Given the description of an element on the screen output the (x, y) to click on. 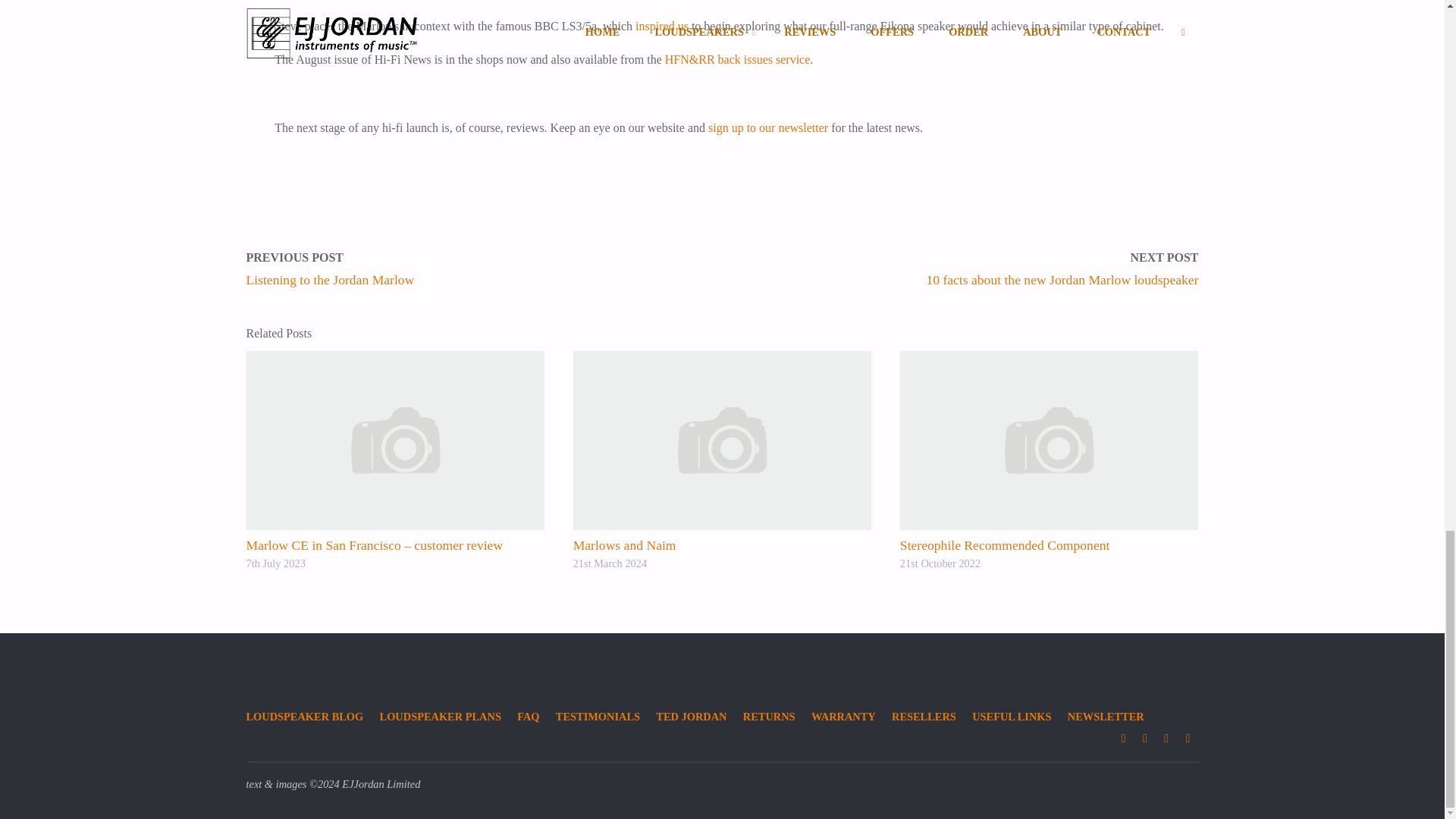
Marlows and Naim (722, 440)
pinterest (1166, 739)
facebook (1145, 739)
Marlows and Naim (625, 544)
Stereophile Recommended Component (1048, 440)
Stereophile Recommended Component (1004, 544)
instagram (1123, 739)
